Given the description of an element on the screen output the (x, y) to click on. 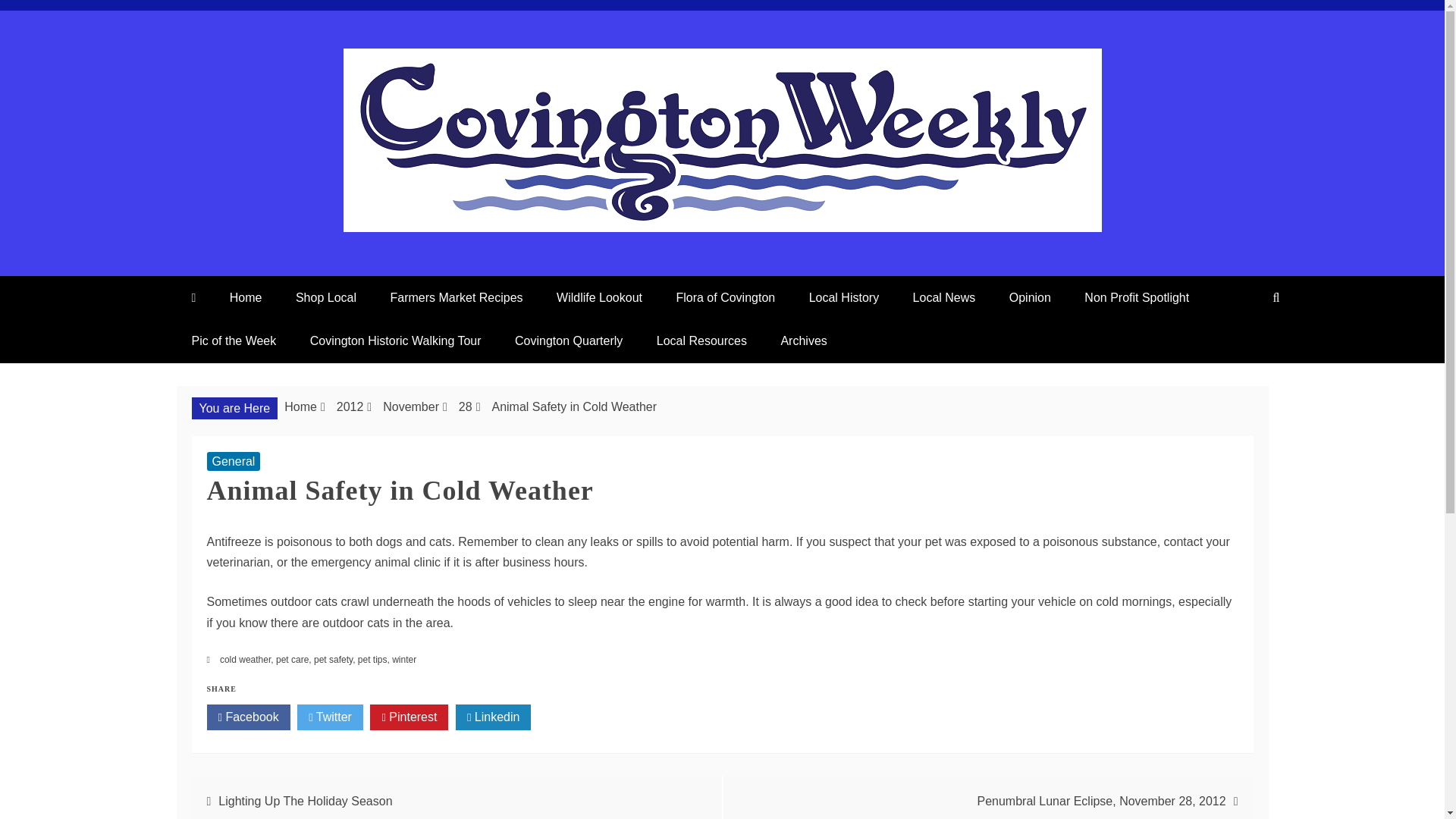
Covington Historic Walking Tour (395, 340)
Penumbral Lunar Eclipse, November 28, 2012 (1100, 800)
Pinterest (408, 717)
Local Resources (701, 340)
Local History (843, 297)
Farmers Market Recipes (455, 297)
Pic of the Week (233, 340)
Home (300, 406)
Linkedin (493, 717)
Local News (944, 297)
winter (403, 659)
pet safety (333, 659)
Flora of Covington (725, 297)
Lighting Up The Holiday Season (304, 800)
2012 (350, 406)
